Given the description of an element on the screen output the (x, y) to click on. 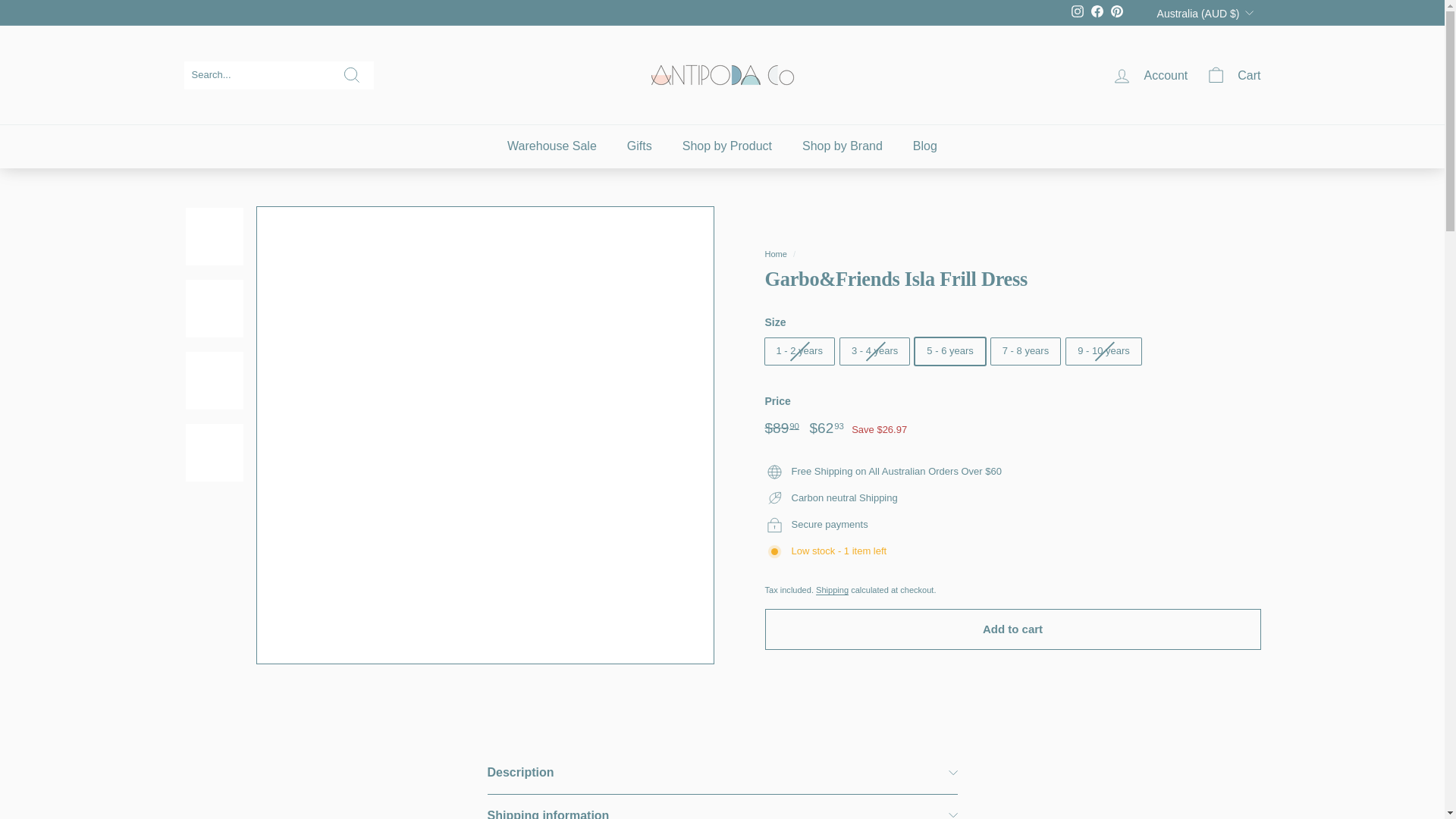
Antipoda Co on Facebook (1096, 12)
Instagram (1077, 12)
Shop by Product (726, 146)
Antipoda Co on Instagram (1077, 12)
Pinterest (1116, 12)
Facebook (1096, 12)
Back to the frontpage (775, 253)
Account (1149, 75)
Antipoda Co on Pinterest (1116, 12)
Warehouse Sale (551, 146)
